Given the description of an element on the screen output the (x, y) to click on. 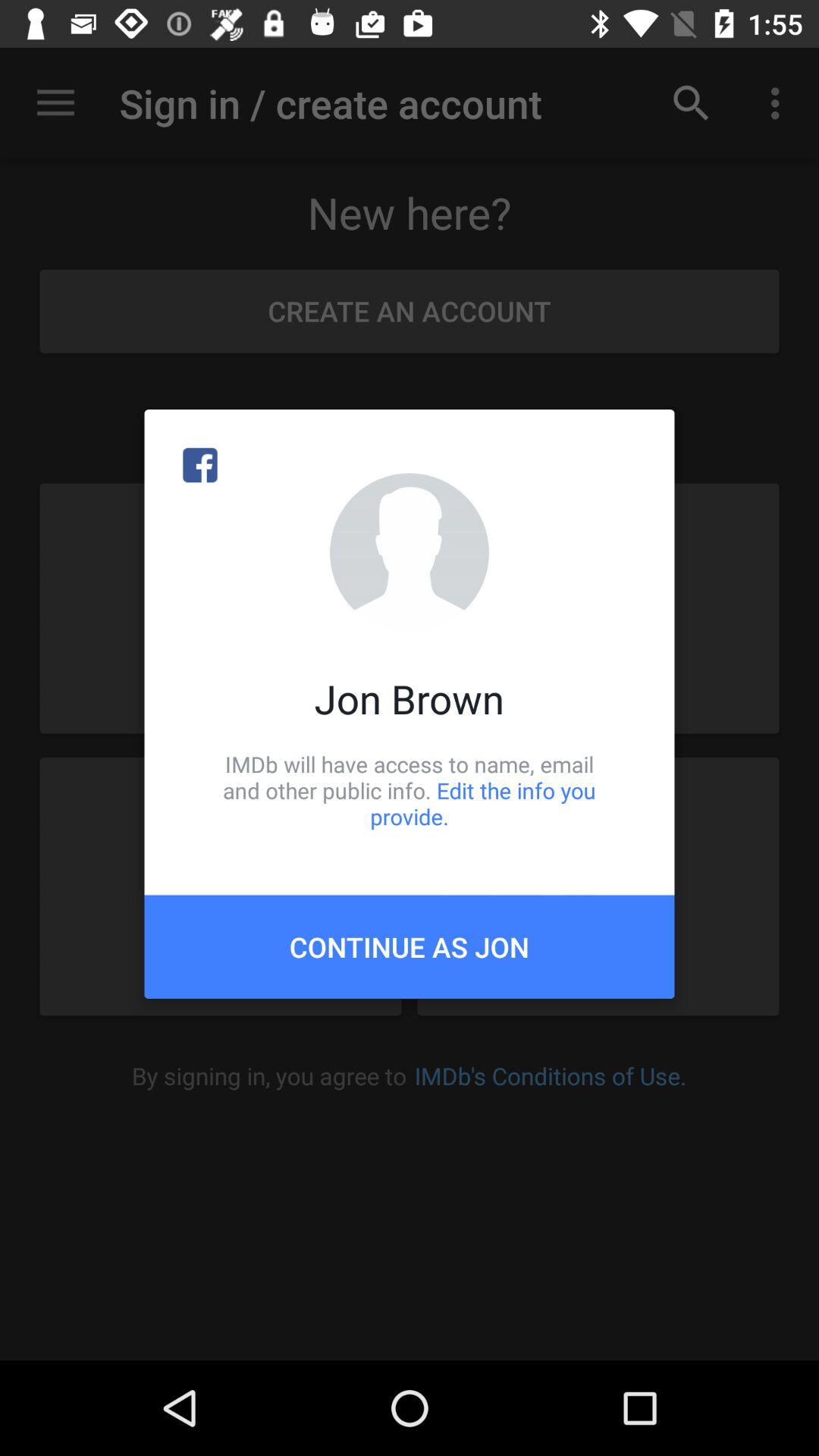
click item below the imdb will have (409, 946)
